Given the description of an element on the screen output the (x, y) to click on. 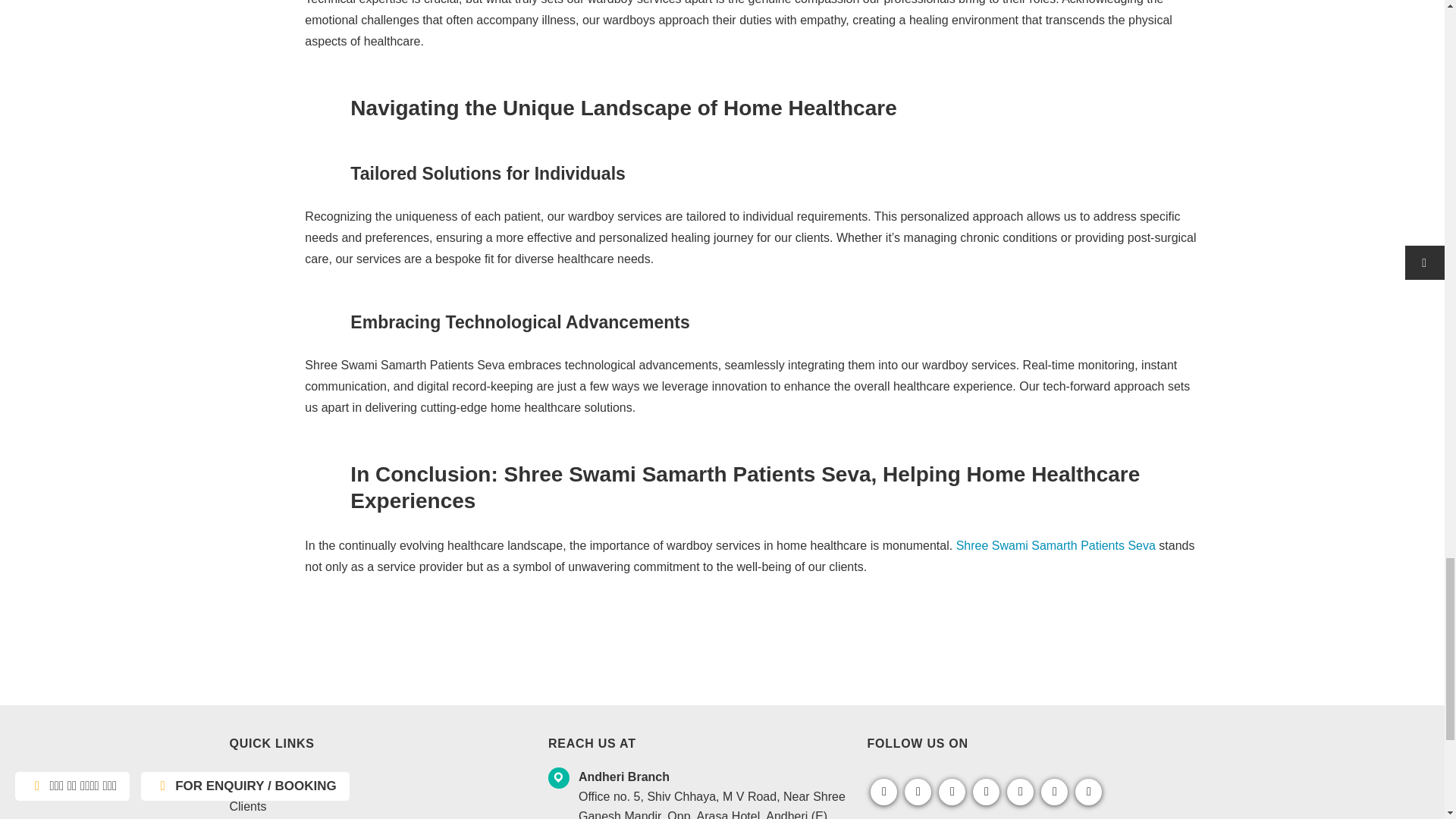
About Us (253, 779)
Shree Swami Samarth Patients Seva (1057, 545)
